Given the description of an element on the screen output the (x, y) to click on. 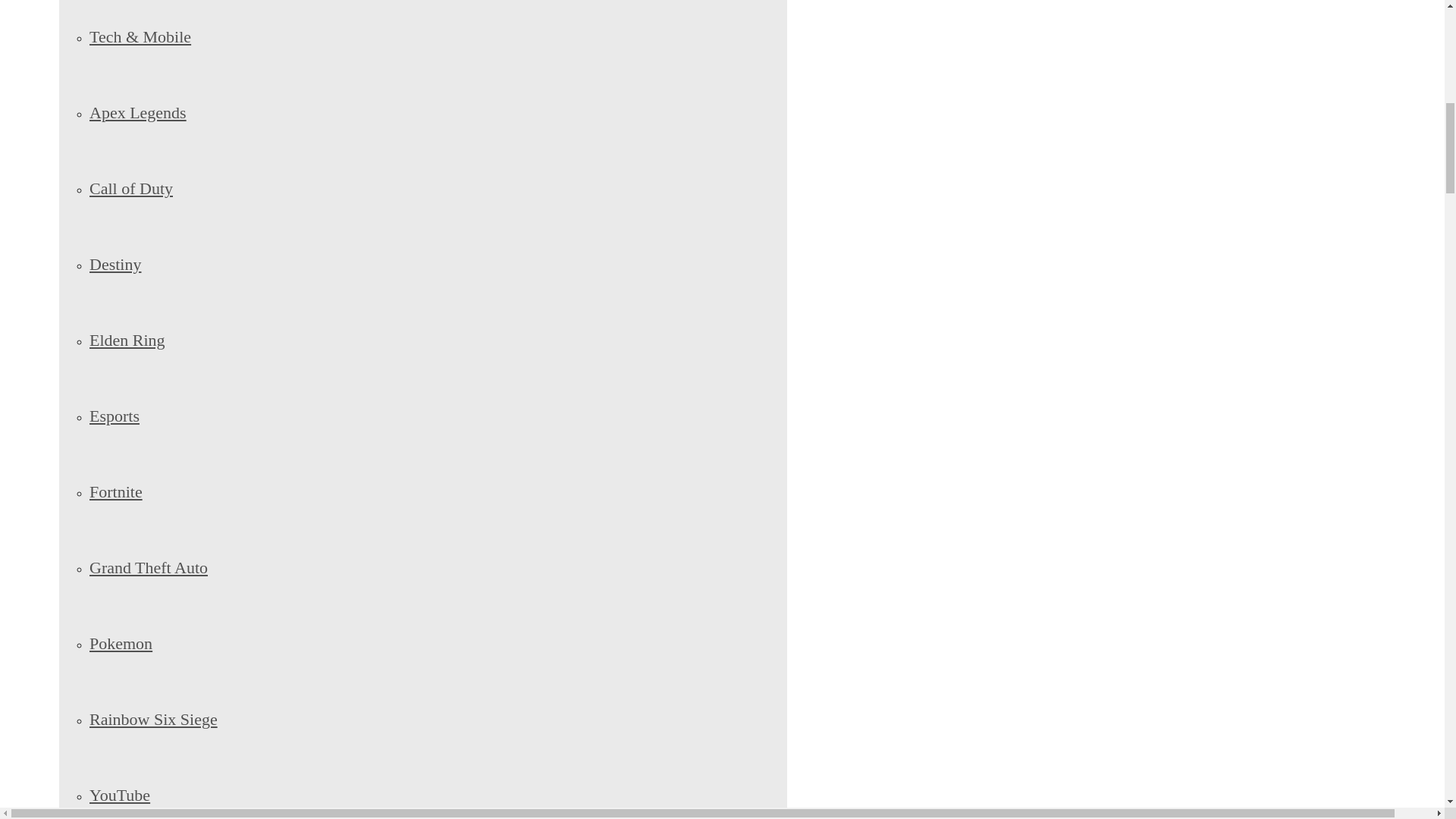
Destiny (114, 263)
Rainbow Six Siege (152, 719)
Apex Legends (137, 112)
Pokemon (120, 642)
Call of Duty (130, 188)
Elden Ring (126, 339)
Grand Theft Auto (148, 567)
Esports (113, 415)
YouTube (118, 794)
Fortnite (115, 491)
